Given the description of an element on the screen output the (x, y) to click on. 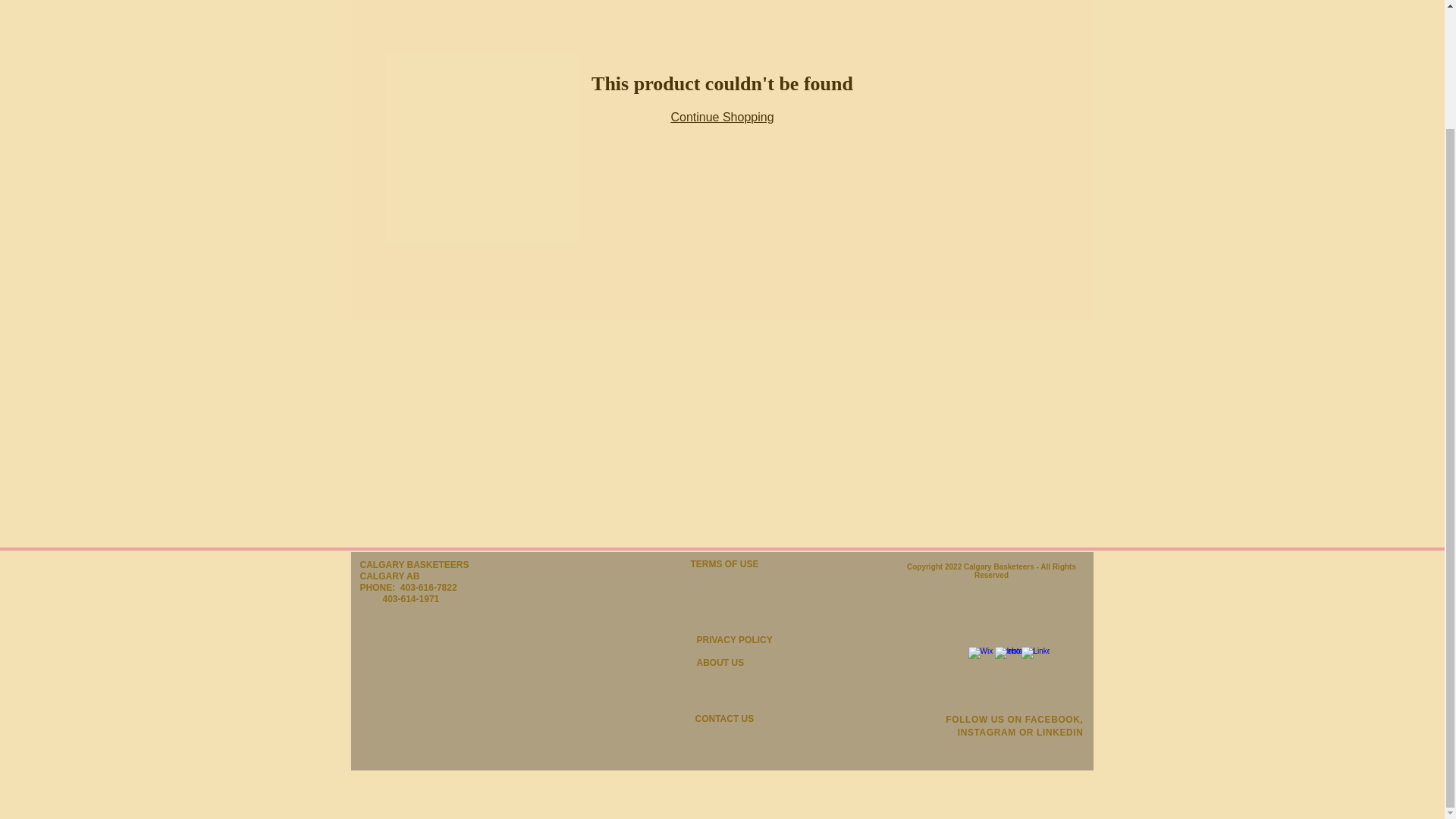
ABOUT US (719, 662)
TERMS OF USE (724, 563)
           403-614-1971 (448, 593)
 403-616-7822                                (466, 587)
PRIVACY POLICY (733, 639)
CONTACT US (724, 718)
Continue Shopping (721, 116)
